Given the description of an element on the screen output the (x, y) to click on. 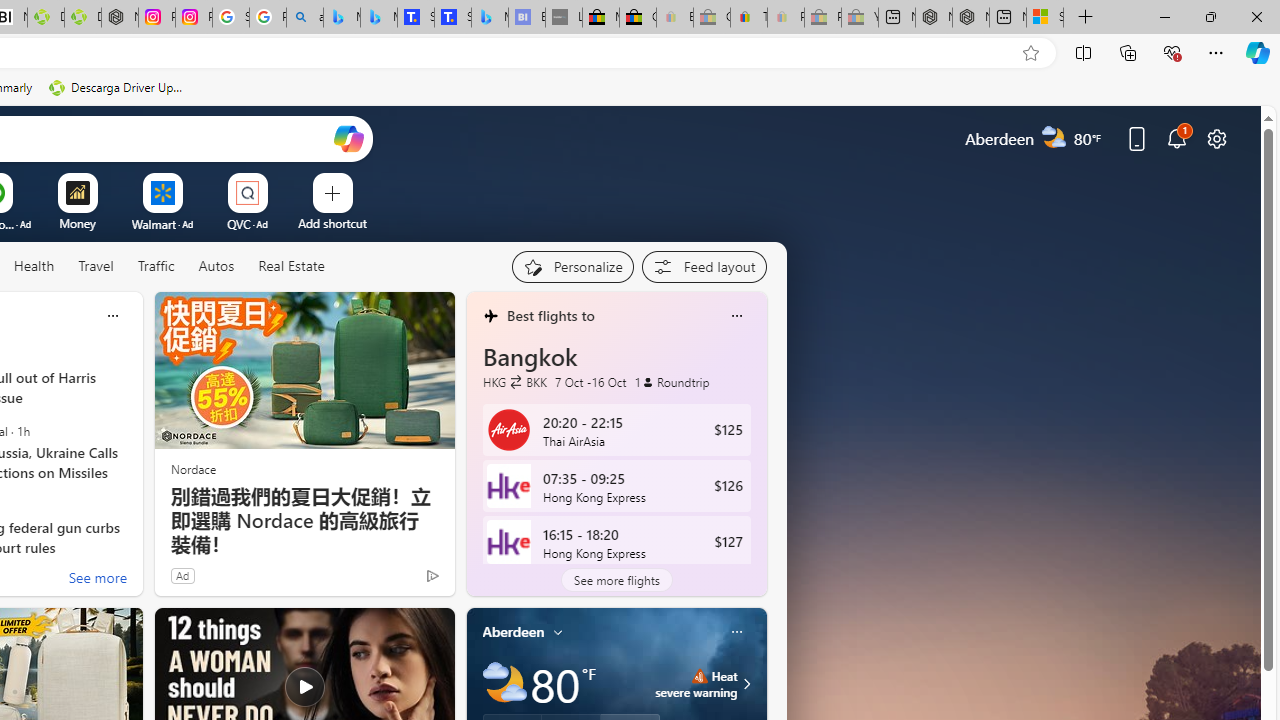
Aberdeen (513, 631)
Heat - Severe (699, 676)
Heat - Severe Heat severe warning (696, 683)
